Given the description of an element on the screen output the (x, y) to click on. 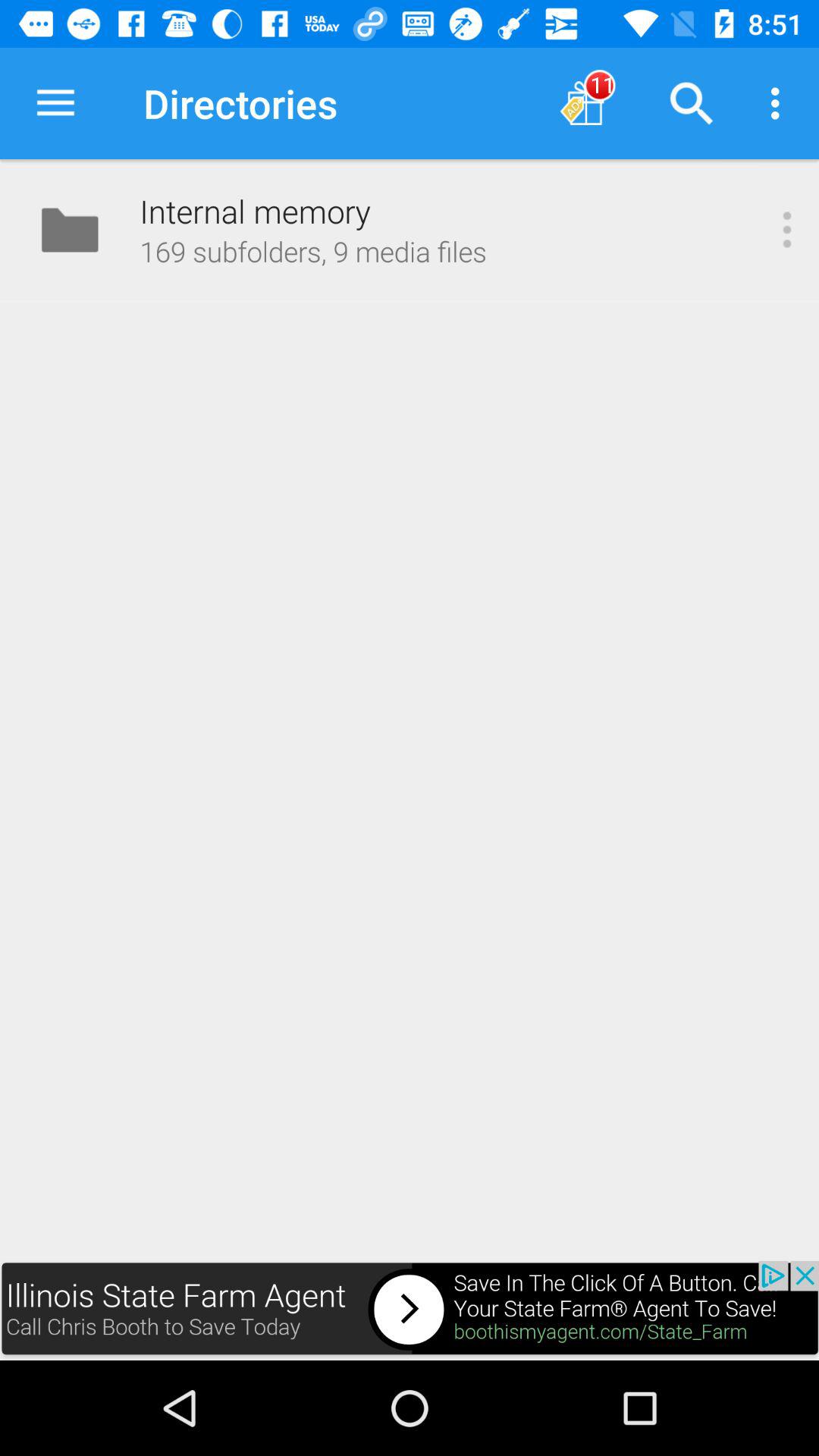
first (409, 1310)
